Given the description of an element on the screen output the (x, y) to click on. 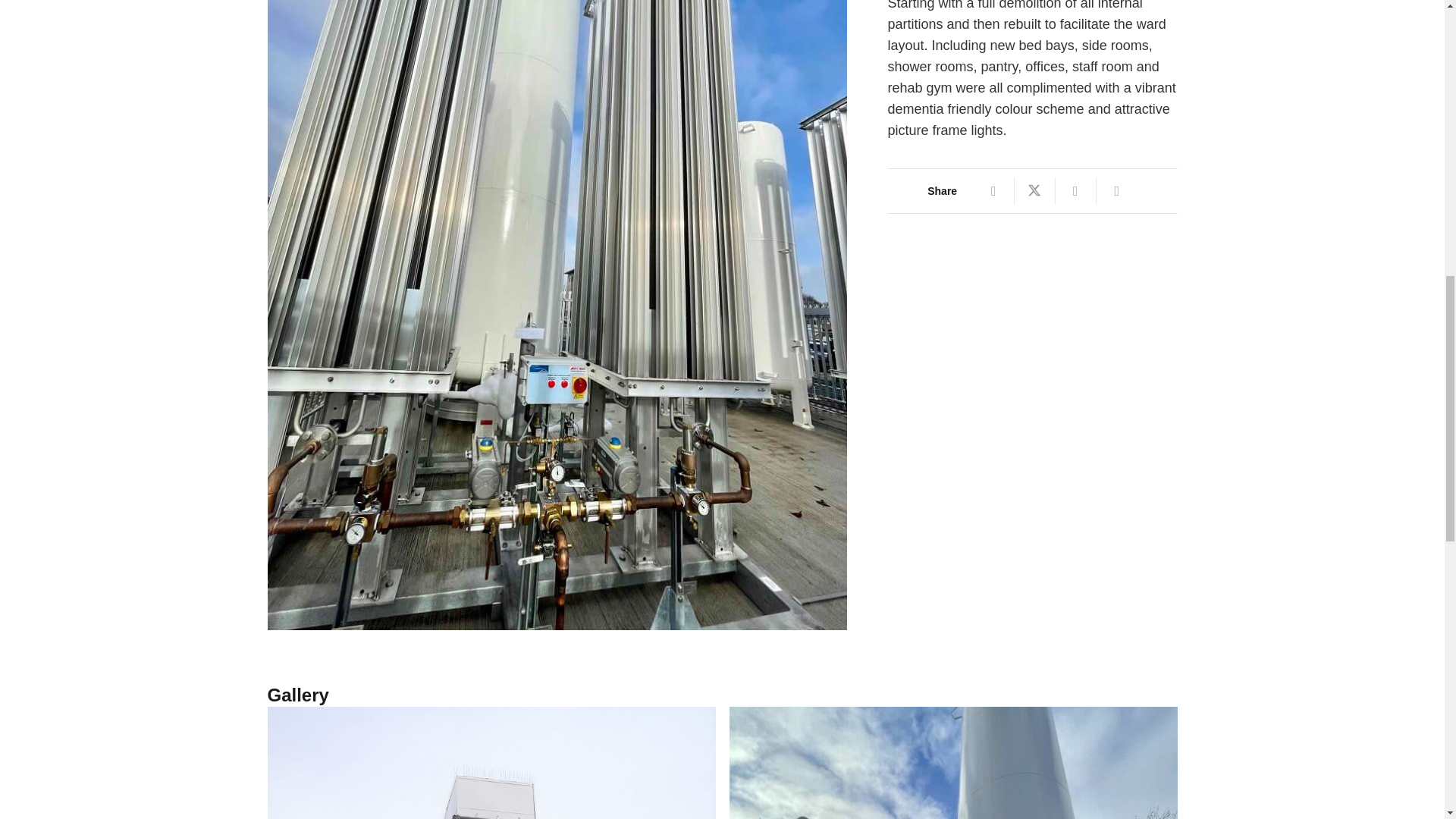
Tweet this (1034, 190)
Share this (1116, 190)
Share this (1075, 190)
Share this (994, 190)
